Given the description of an element on the screen output the (x, y) to click on. 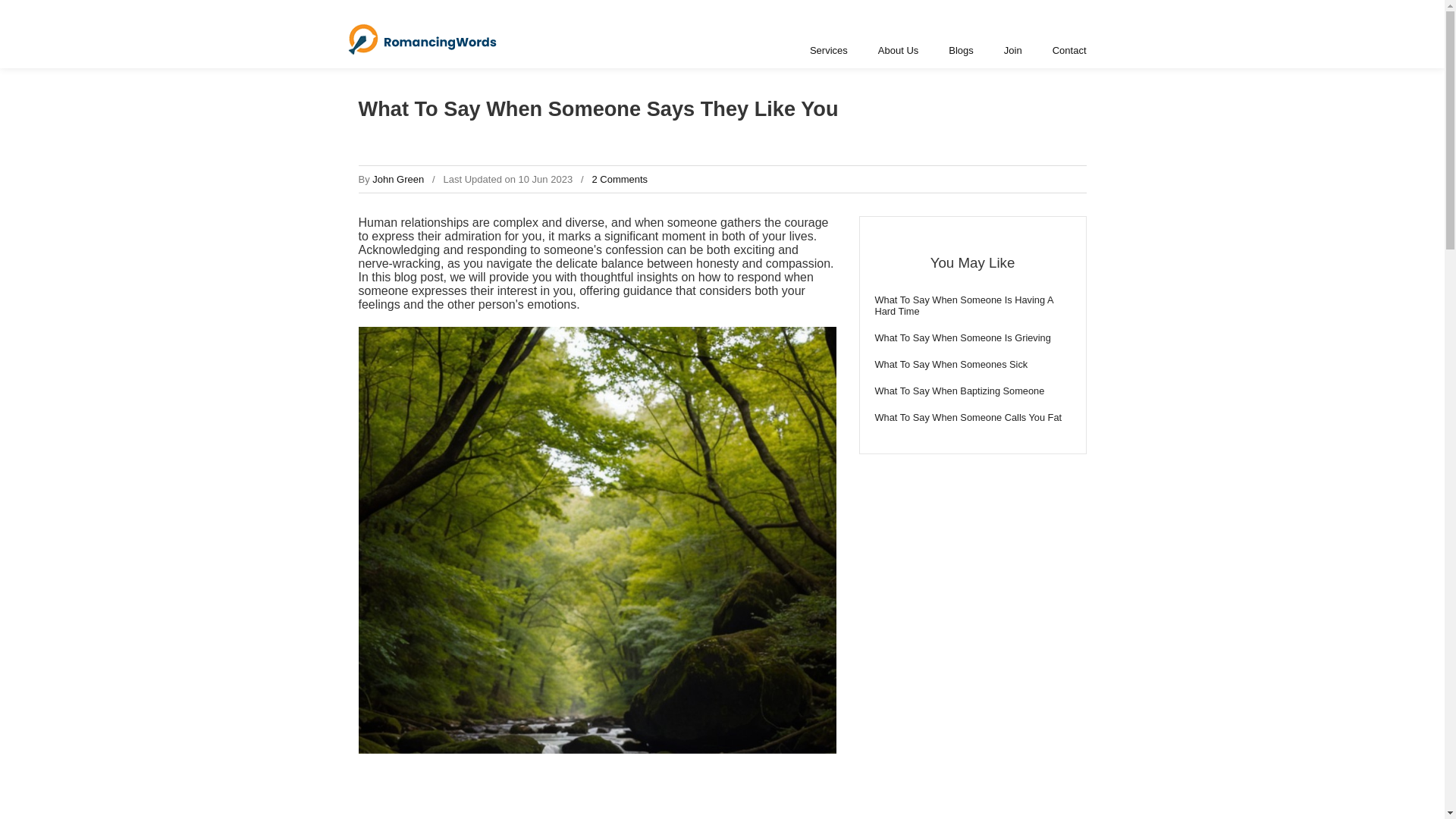
Contact (1069, 49)
What To Say When Someone Is Having A Hard Time (972, 305)
What To Say When Someones Sick (972, 364)
2 Comments (619, 179)
What To Say When Someone Is Grieving (972, 337)
Blogs (960, 49)
Join (1012, 49)
What To Say When Someone Calls You Fat (972, 417)
About Us (898, 49)
What To Say When Baptizing Someone (972, 390)
